Given the description of an element on the screen output the (x, y) to click on. 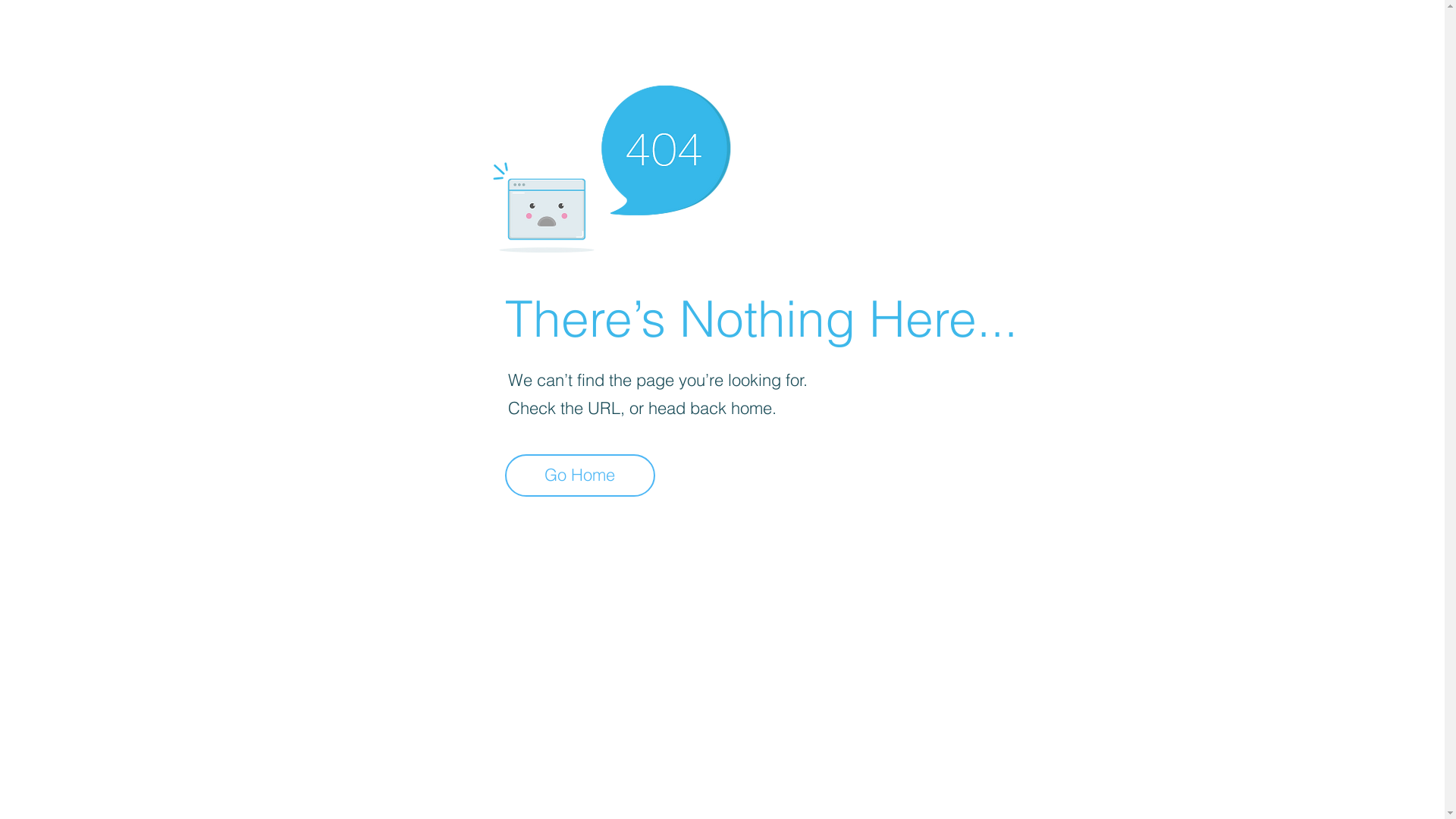
404-icon_2.png Element type: hover (610, 164)
Go Home Element type: text (580, 475)
